Given the description of an element on the screen output the (x, y) to click on. 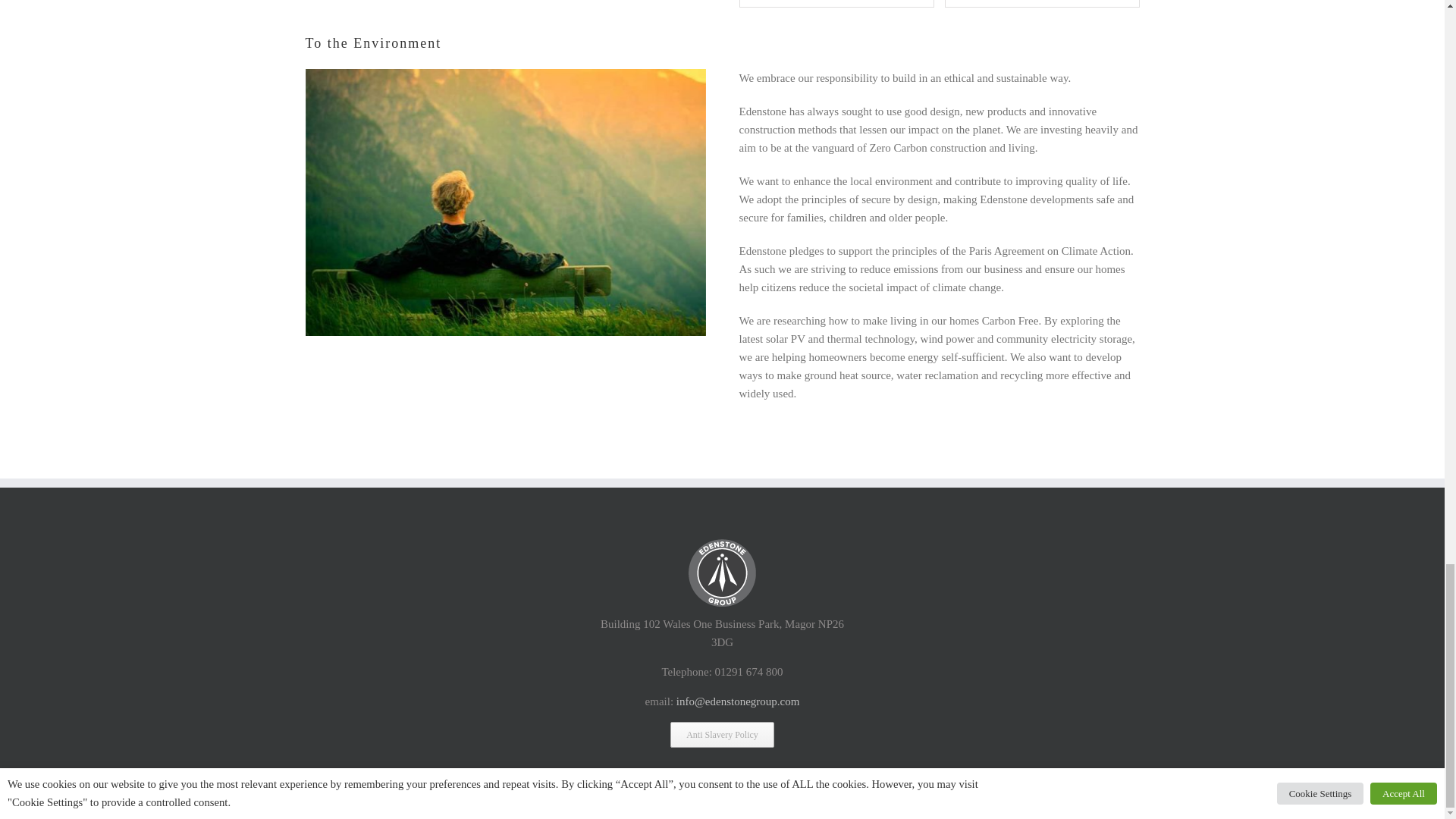
Anti Slavery Policy (721, 734)
